Given the description of an element on the screen output the (x, y) to click on. 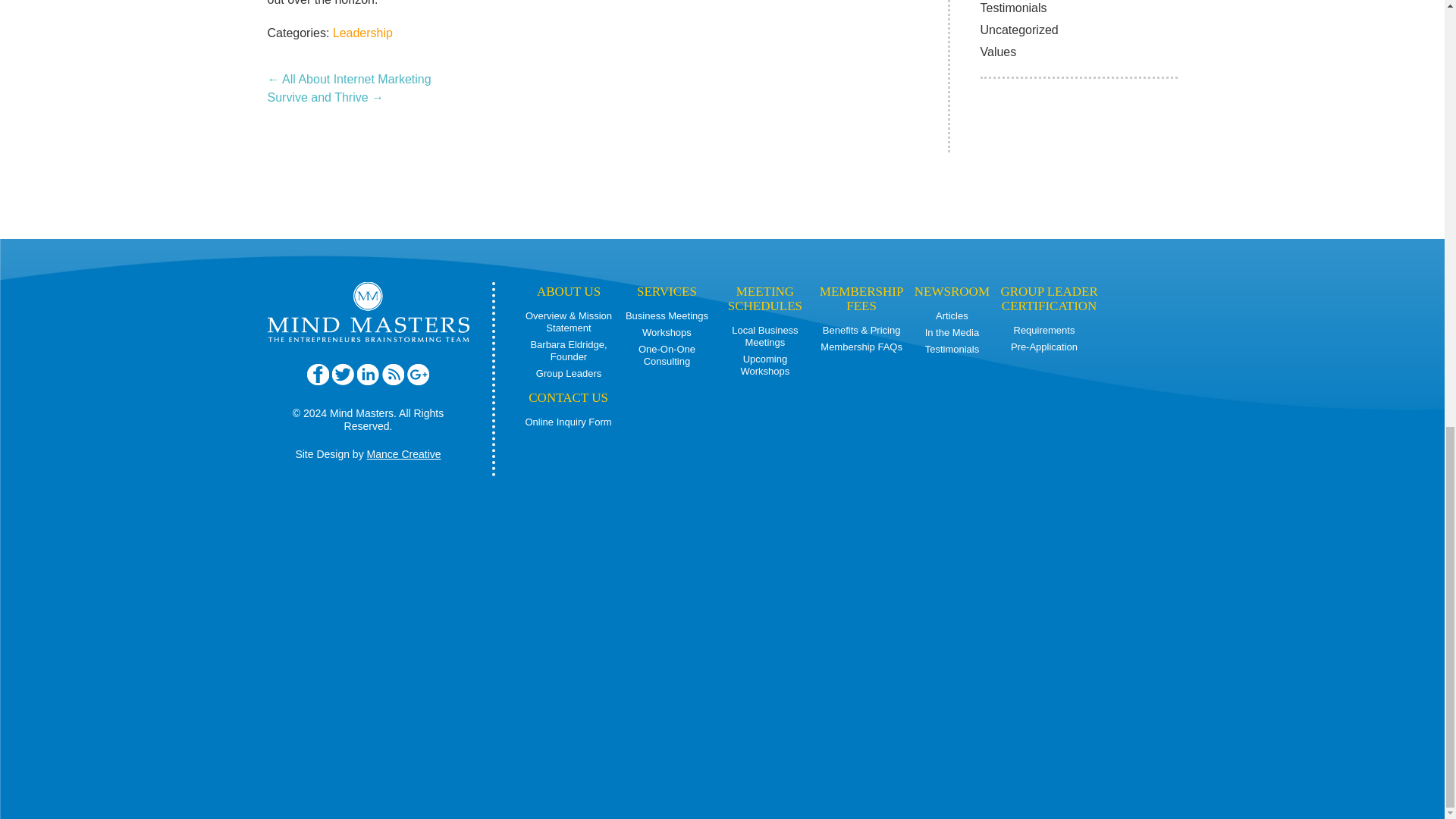
Leadership (363, 32)
